Given the description of an element on the screen output the (x, y) to click on. 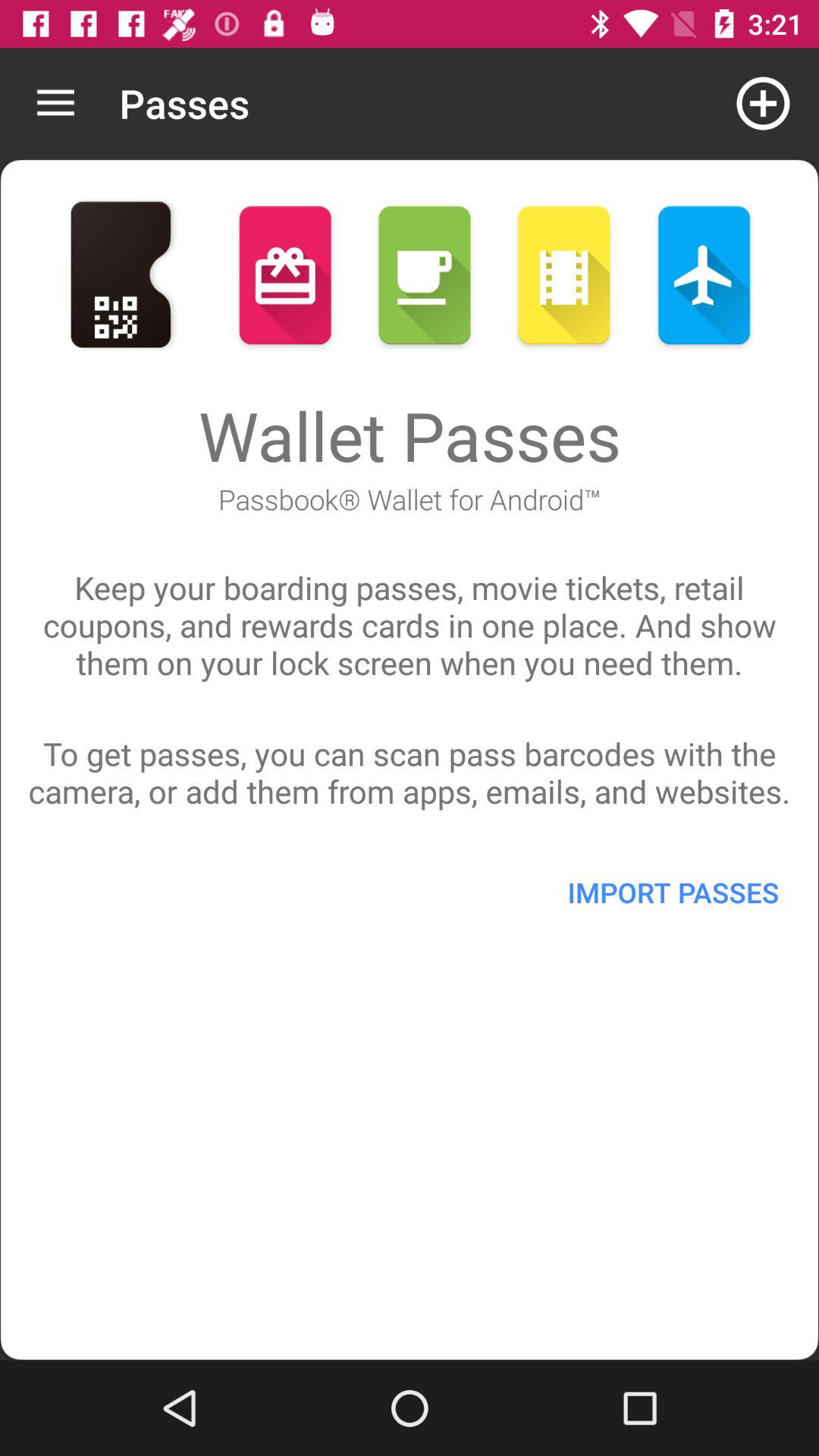
launch icon to the left of the passes icon (55, 103)
